Given the description of an element on the screen output the (x, y) to click on. 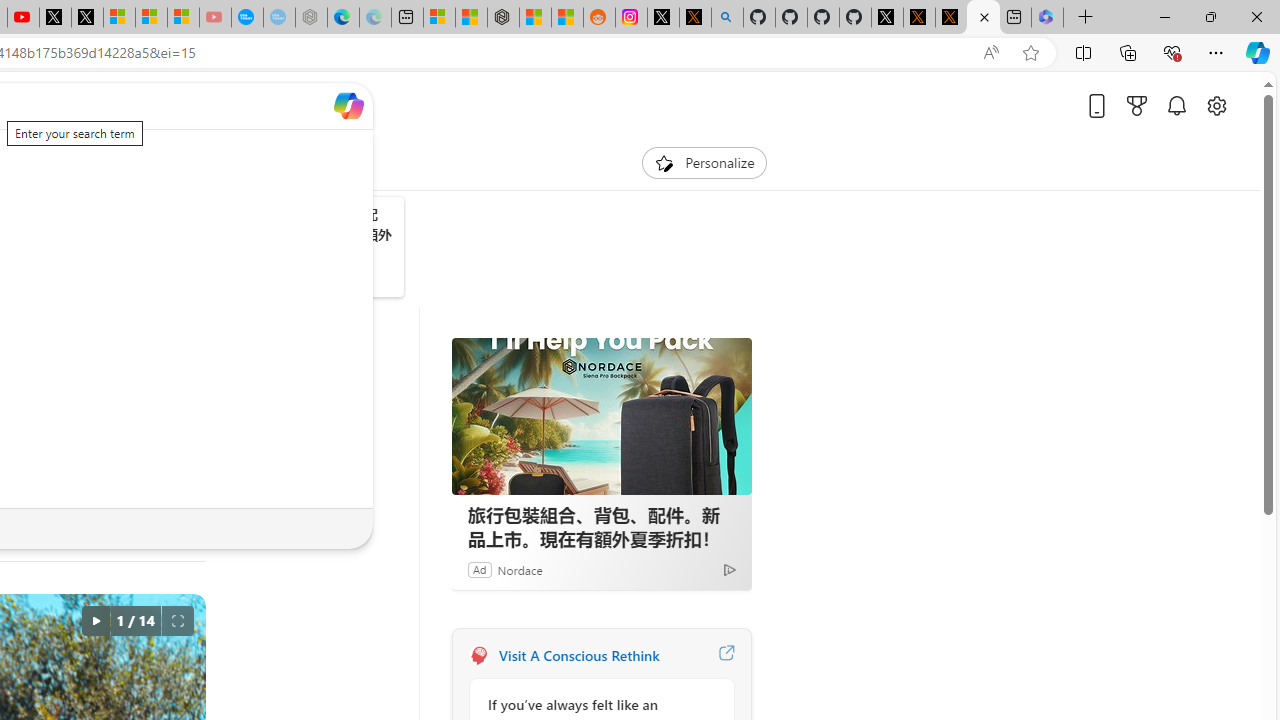
Lifestyle (140, 162)
Visit A Conscious Rethink website (726, 655)
Go to publisher's site (163, 374)
The most popular Google 'how to' searches - Sleeping (279, 17)
Login | Microsoft 365 (1047, 17)
